Given the description of an element on the screen output the (x, y) to click on. 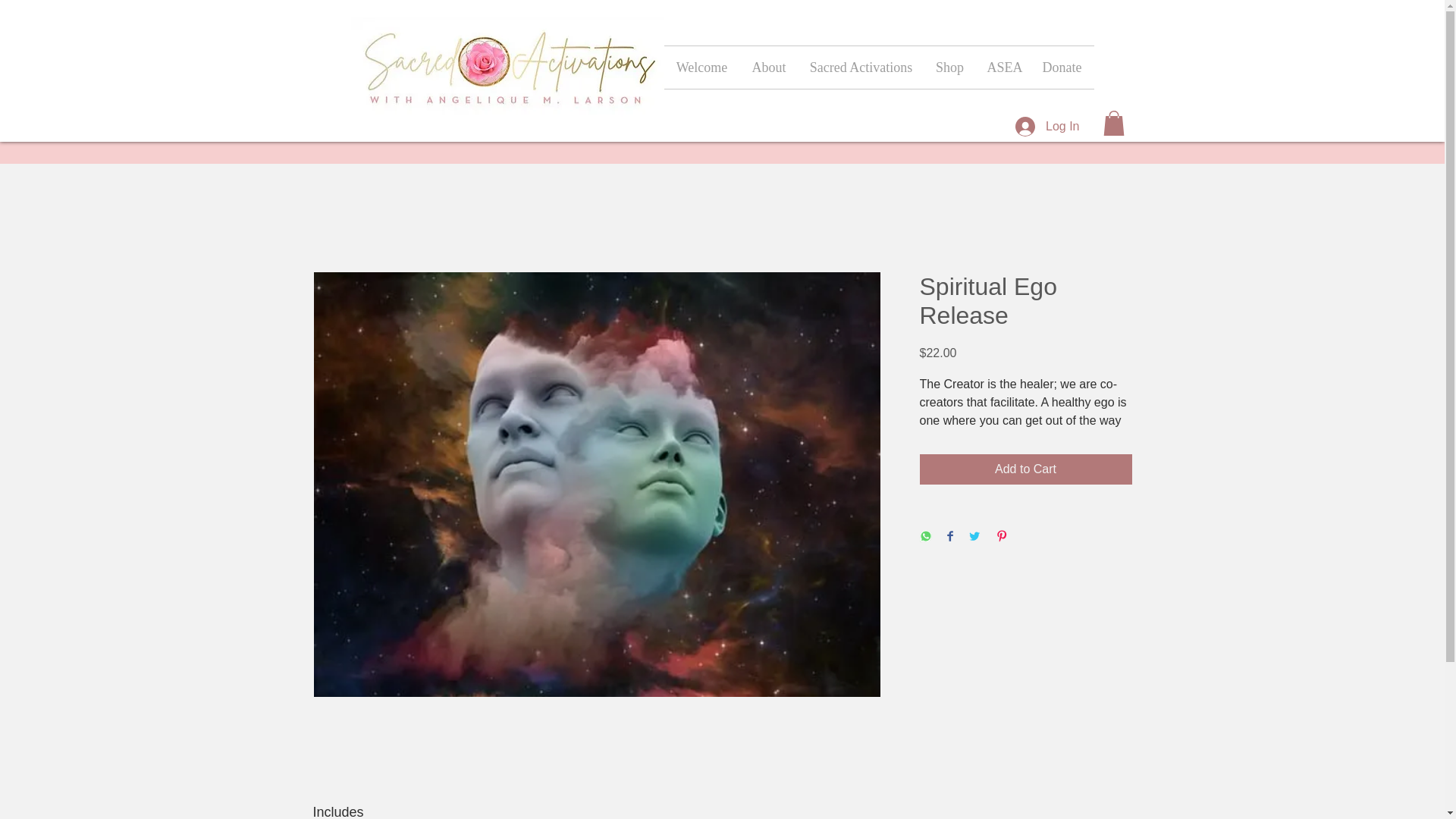
Sacred Activations (860, 66)
Welcome (701, 66)
Add to Cart (1024, 469)
ASEA (1002, 66)
Donate (1061, 66)
Log In (1046, 126)
Smile.io Rewards Program Launcher (69, 780)
About (768, 66)
Shop (949, 66)
